Given the description of an element on the screen output the (x, y) to click on. 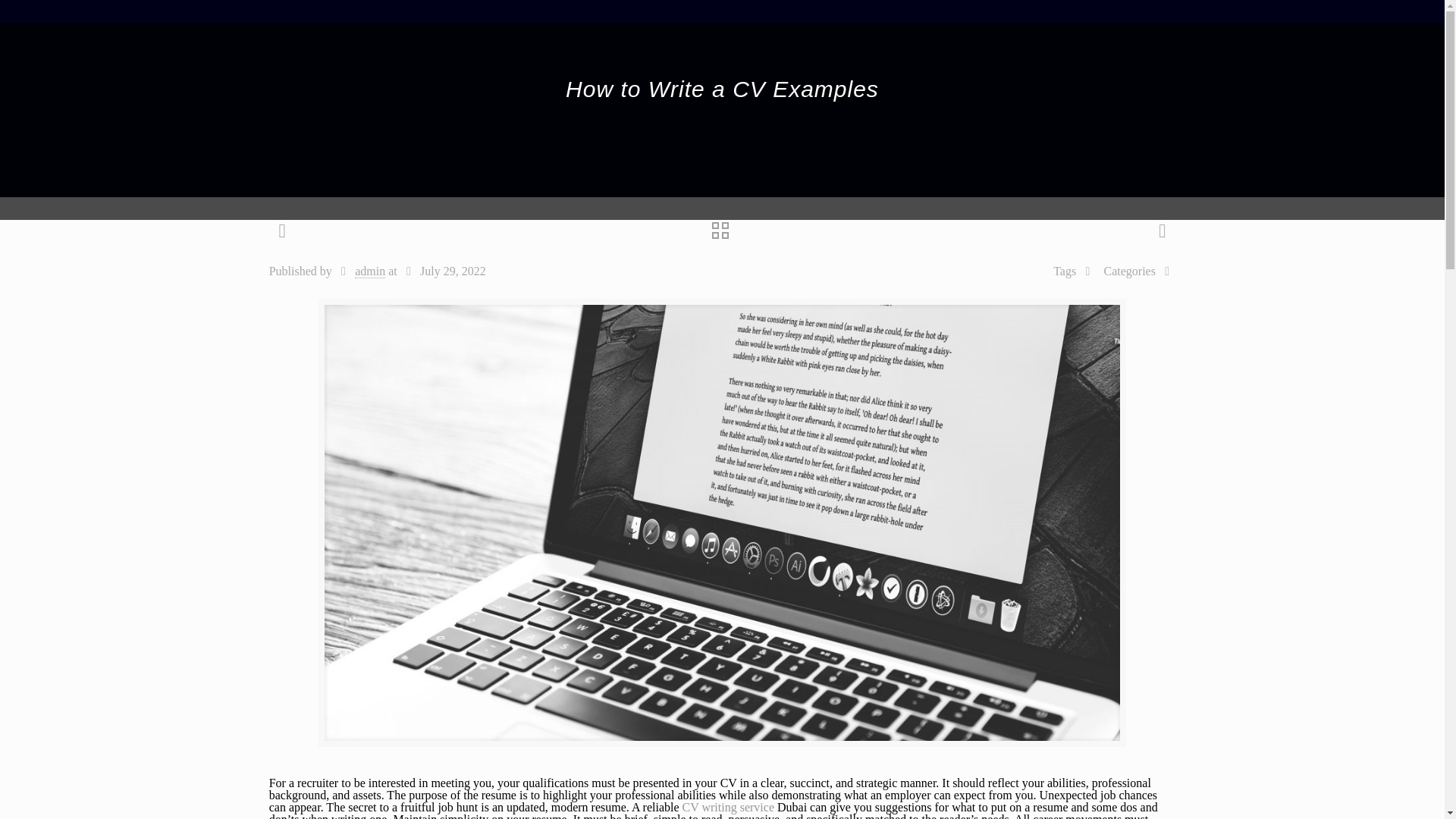
admin (370, 271)
